Given the description of an element on the screen output the (x, y) to click on. 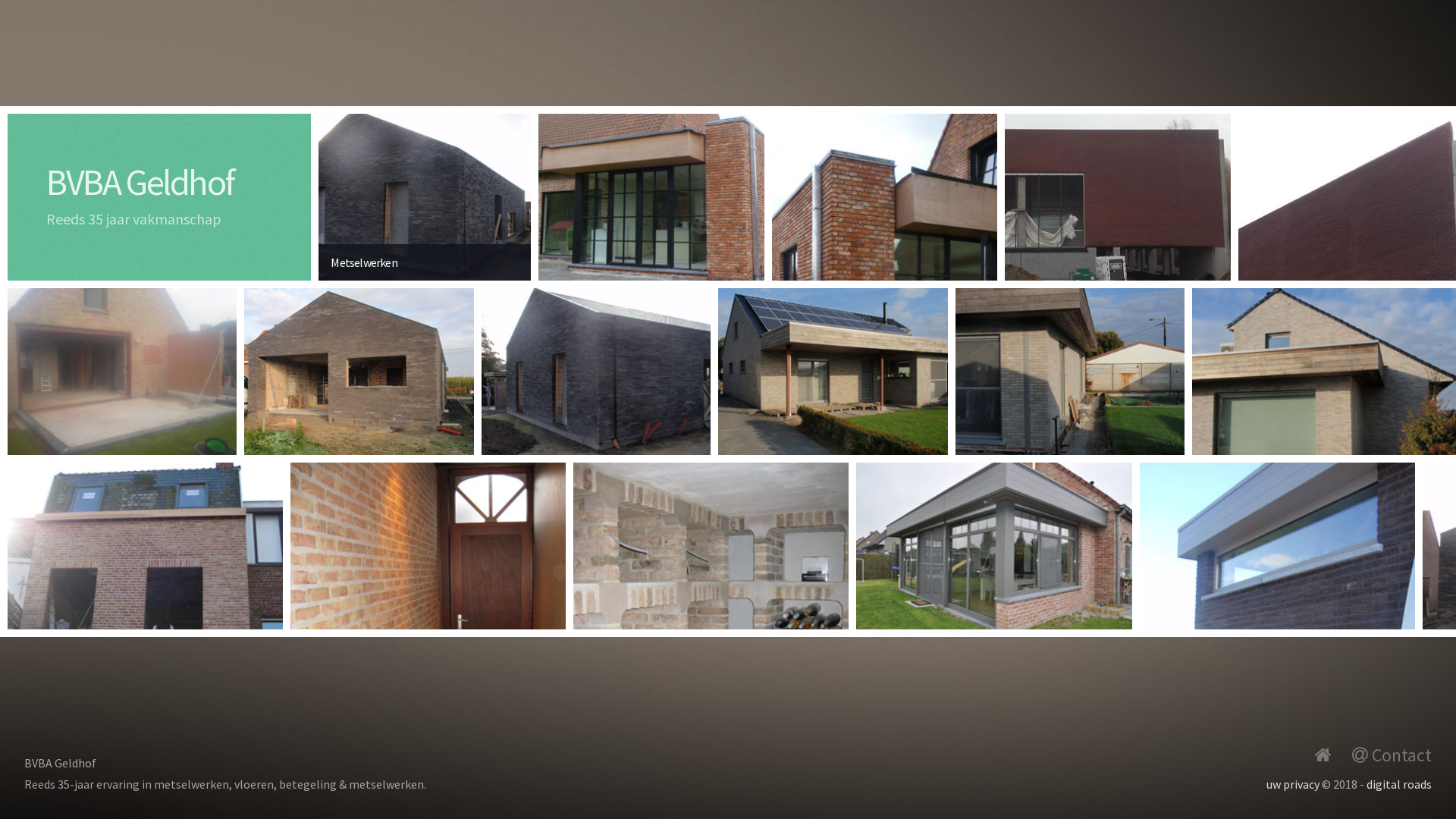
uw privacy Element type: text (1292, 783)
BVBA Geldhof Element type: text (139, 181)
digital roads Element type: text (1398, 783)
 Contact Element type: text (1391, 754)
